Given the description of an element on the screen output the (x, y) to click on. 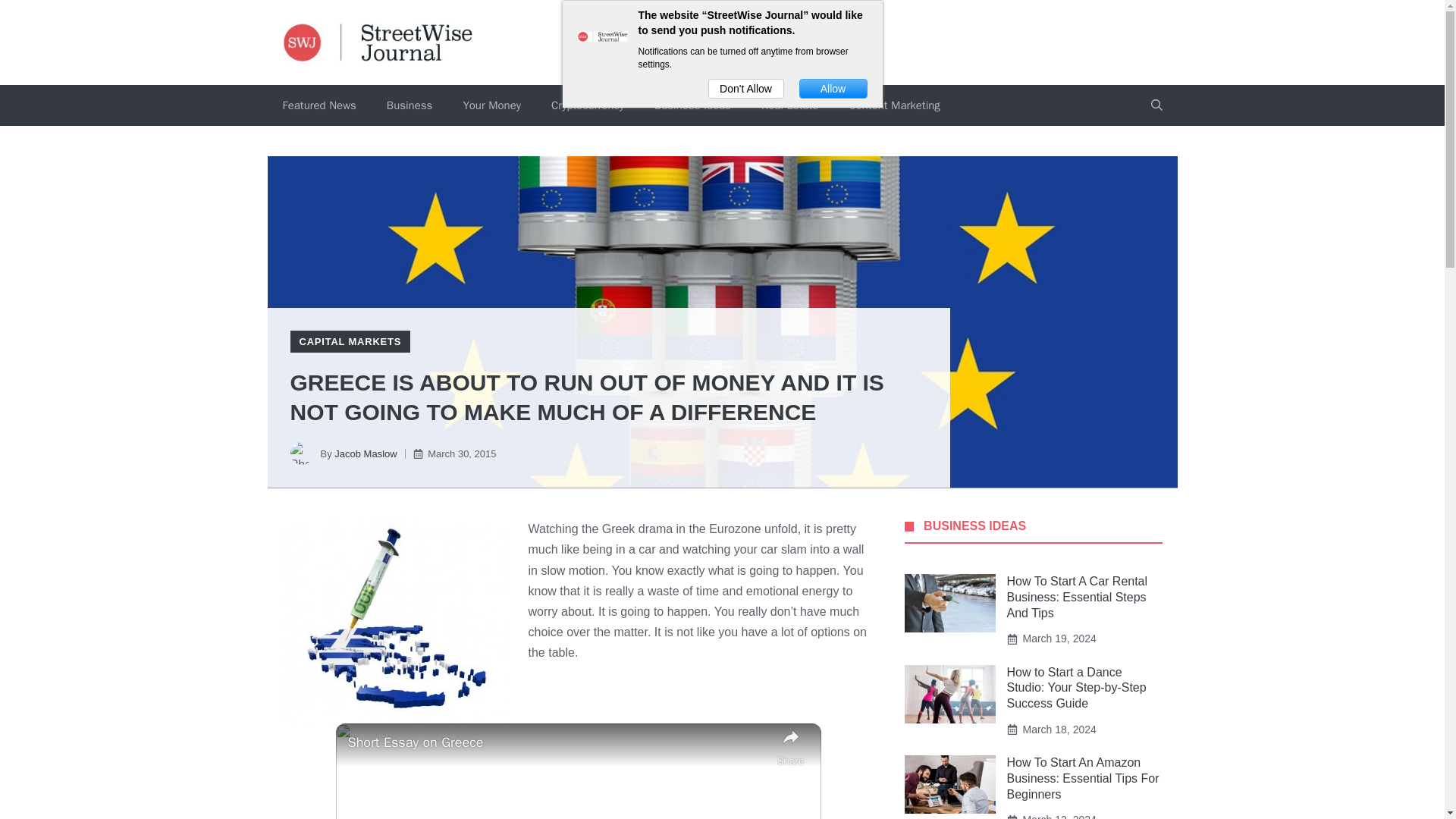
Featured News (318, 105)
Real Estate (788, 105)
Business (409, 105)
CAPITAL MARKETS (349, 341)
Content Marketing (893, 105)
Jacob Maslow (365, 453)
Short Essay on Greece (557, 742)
Your Money (490, 105)
Business Ideas (692, 105)
Cryptocurrency (587, 105)
